Given the description of an element on the screen output the (x, y) to click on. 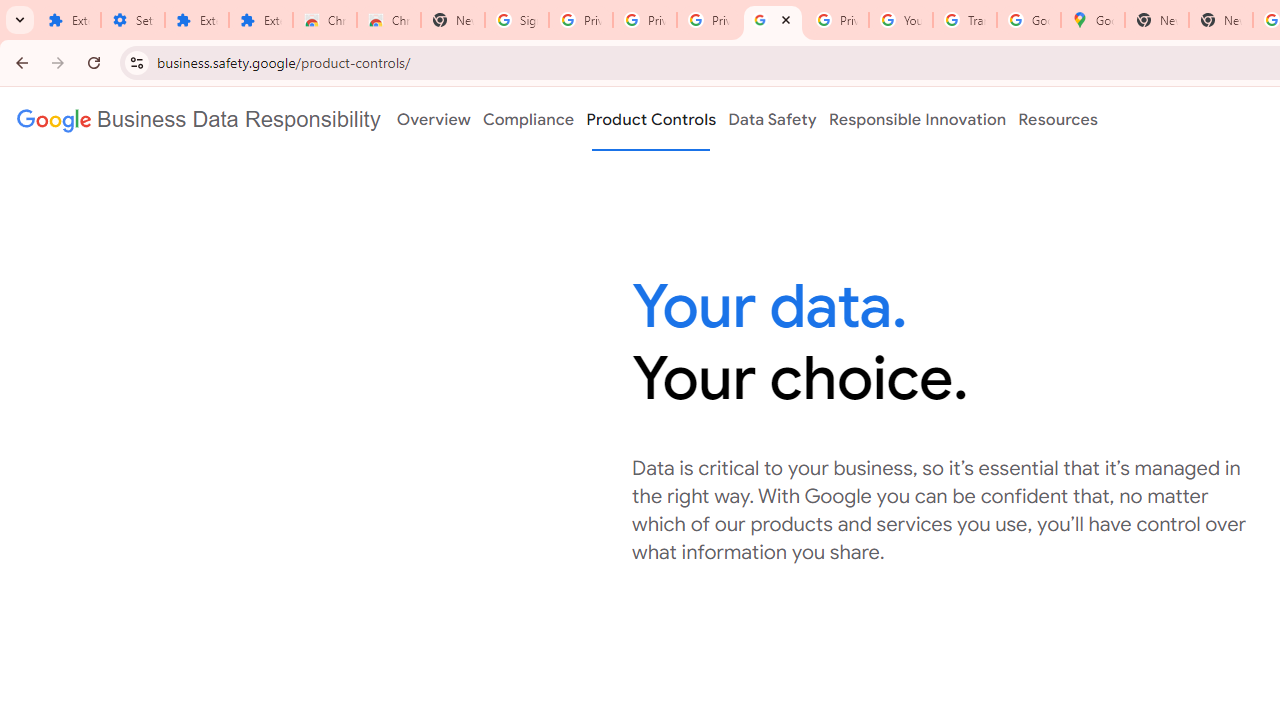
Data Safety (772, 119)
New Tab (453, 20)
Settings (133, 20)
New Tab (1221, 20)
Sign in - Google Accounts (517, 20)
Extensions (69, 20)
Extensions (197, 20)
